Given the description of an element on the screen output the (x, y) to click on. 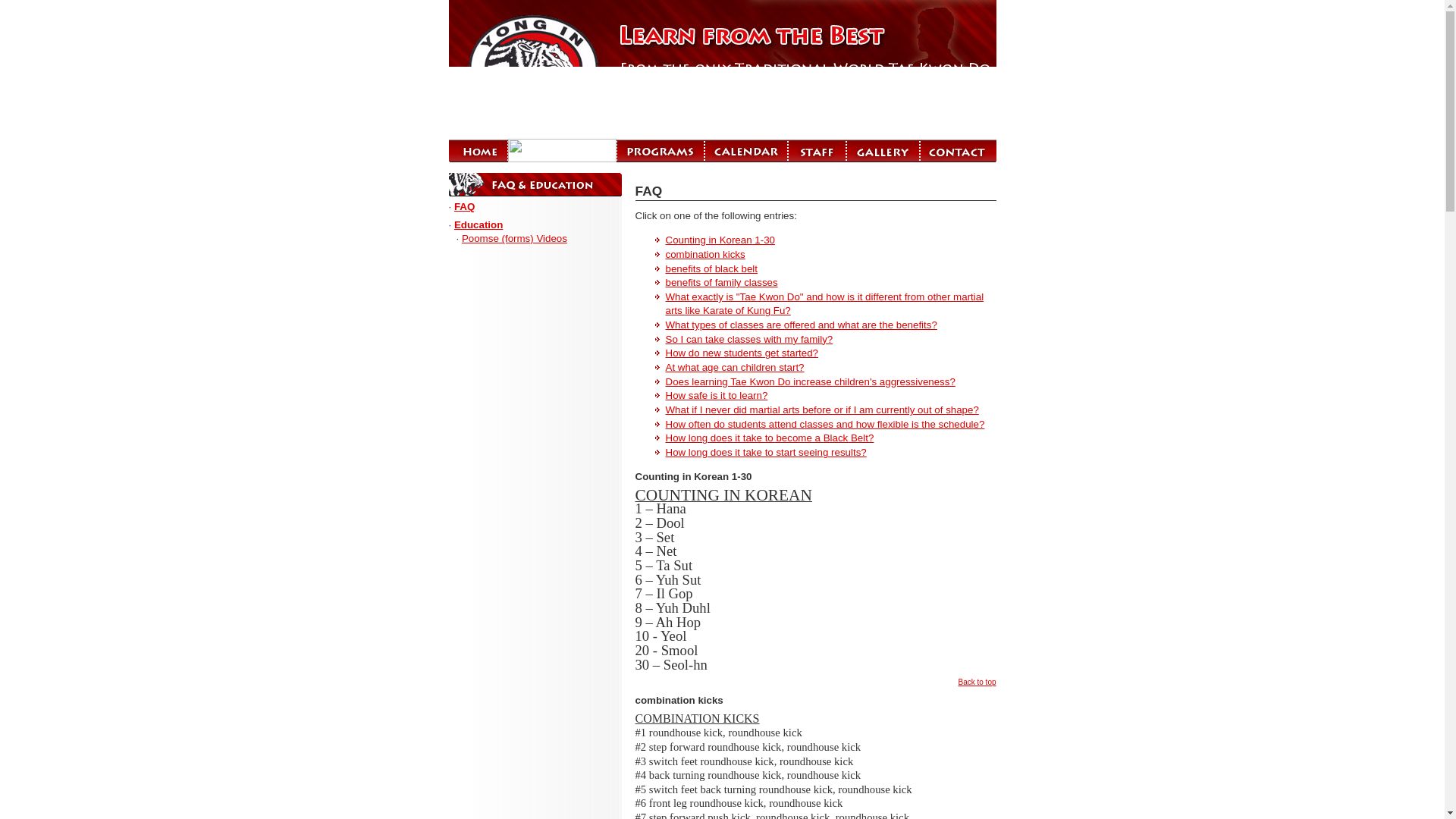
Counting in Korean 1-30 (720, 239)
Back to top (976, 682)
At what age can children start? (735, 367)
How long does it take to become a Black Belt? (770, 437)
benefits of family classes (721, 282)
benefits of black belt (711, 268)
What types of classes are offered and what are the benefits? (801, 324)
How safe is it to learn? (716, 395)
FAQ (464, 206)
How long does it take to start seeing results? (765, 451)
combination kicks (705, 254)
